Given the description of an element on the screen output the (x, y) to click on. 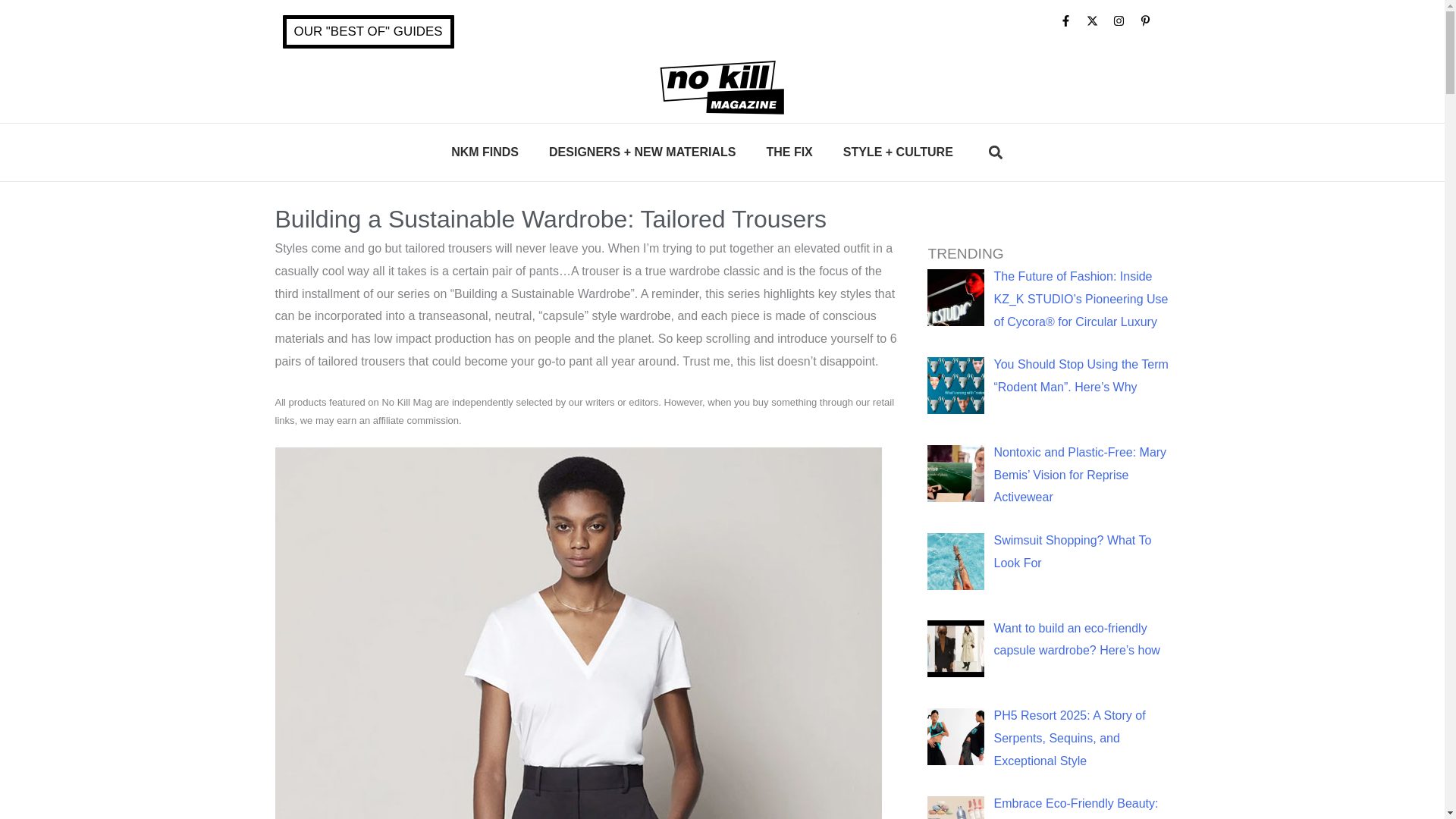
THE FIX (789, 152)
X-twitter (1097, 26)
OUR "BEST OF" GUIDES (367, 31)
Facebook-f (1071, 26)
NKM FINDS (484, 152)
Instagram (1124, 26)
Swimsuit Shopping? What To Look For (1071, 551)
Pinterest-p (1149, 26)
